Given the description of an element on the screen output the (x, y) to click on. 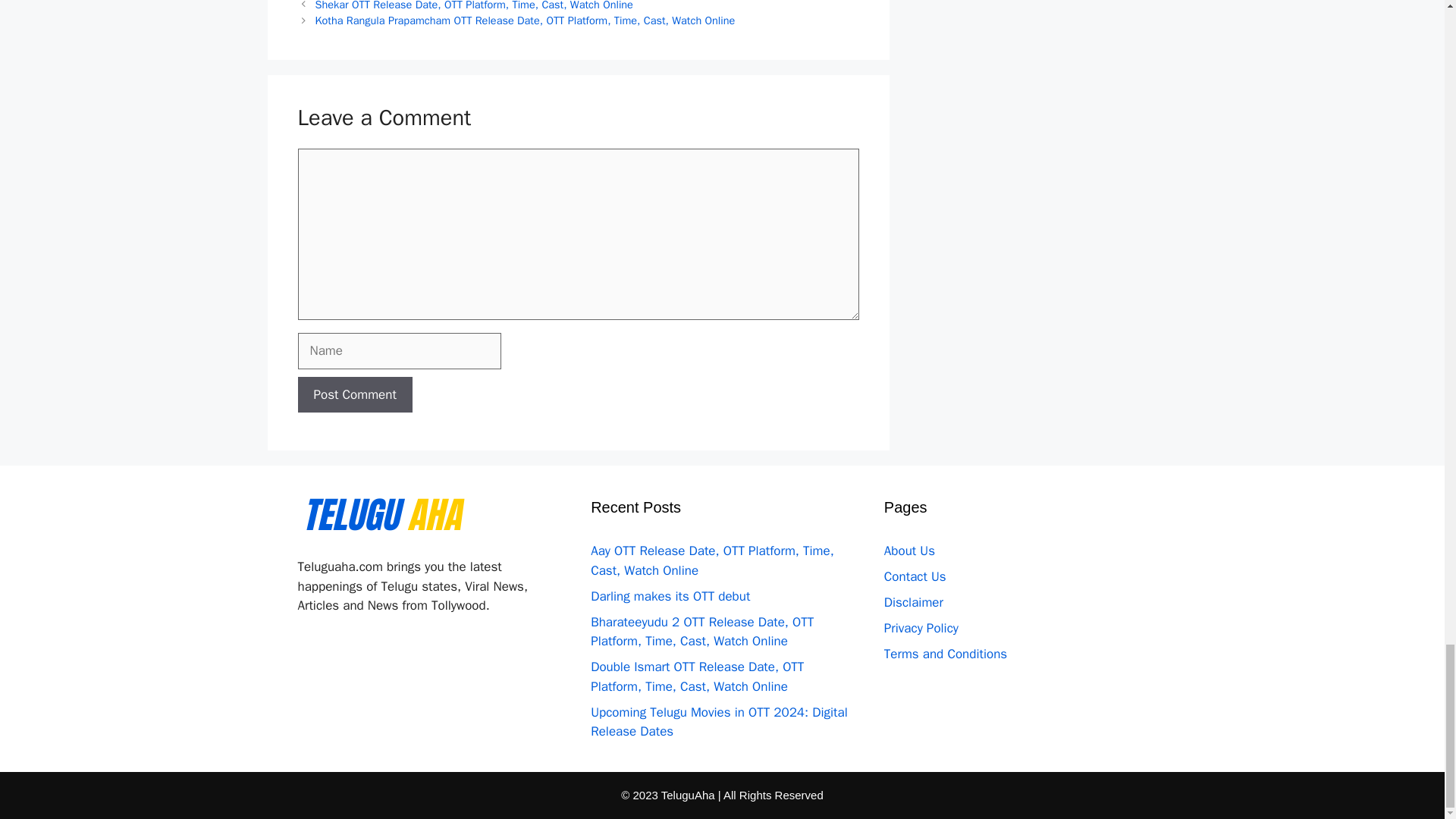
Post Comment (354, 394)
Post Comment (354, 394)
